Given the description of an element on the screen output the (x, y) to click on. 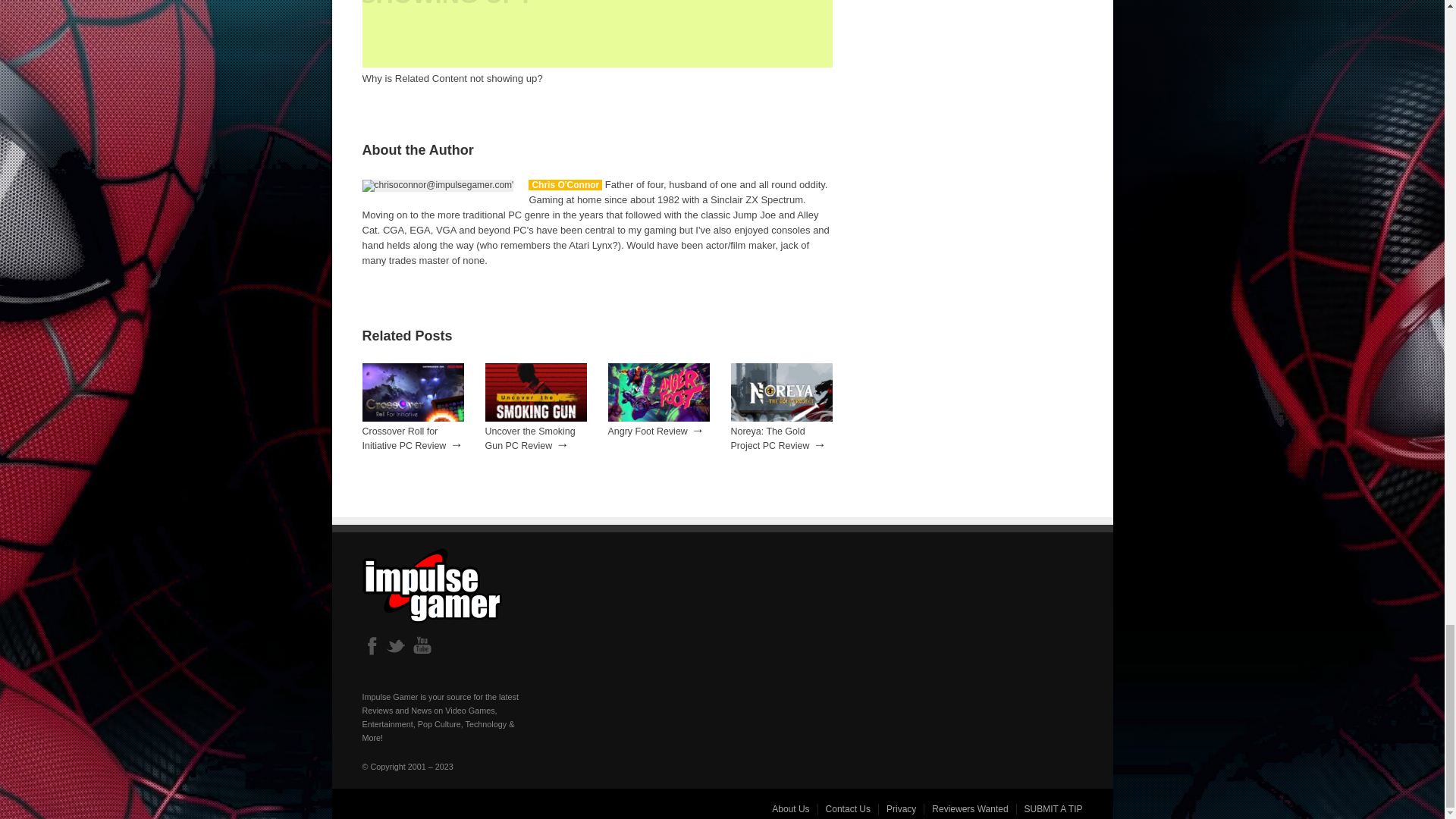
Uncover the Smoking Gun PC Review (529, 438)
Crossover Roll for Initiative PC Review (404, 438)
Angry Foot Review (659, 418)
Angry Foot Review (647, 430)
Crossover Roll for Initiative PC Review (413, 418)
Posts by Chris O'Connor (565, 184)
Why is Related Content not showing up? (597, 43)
Uncover the Smoking Gun PC Review (535, 418)
